Given the description of an element on the screen output the (x, y) to click on. 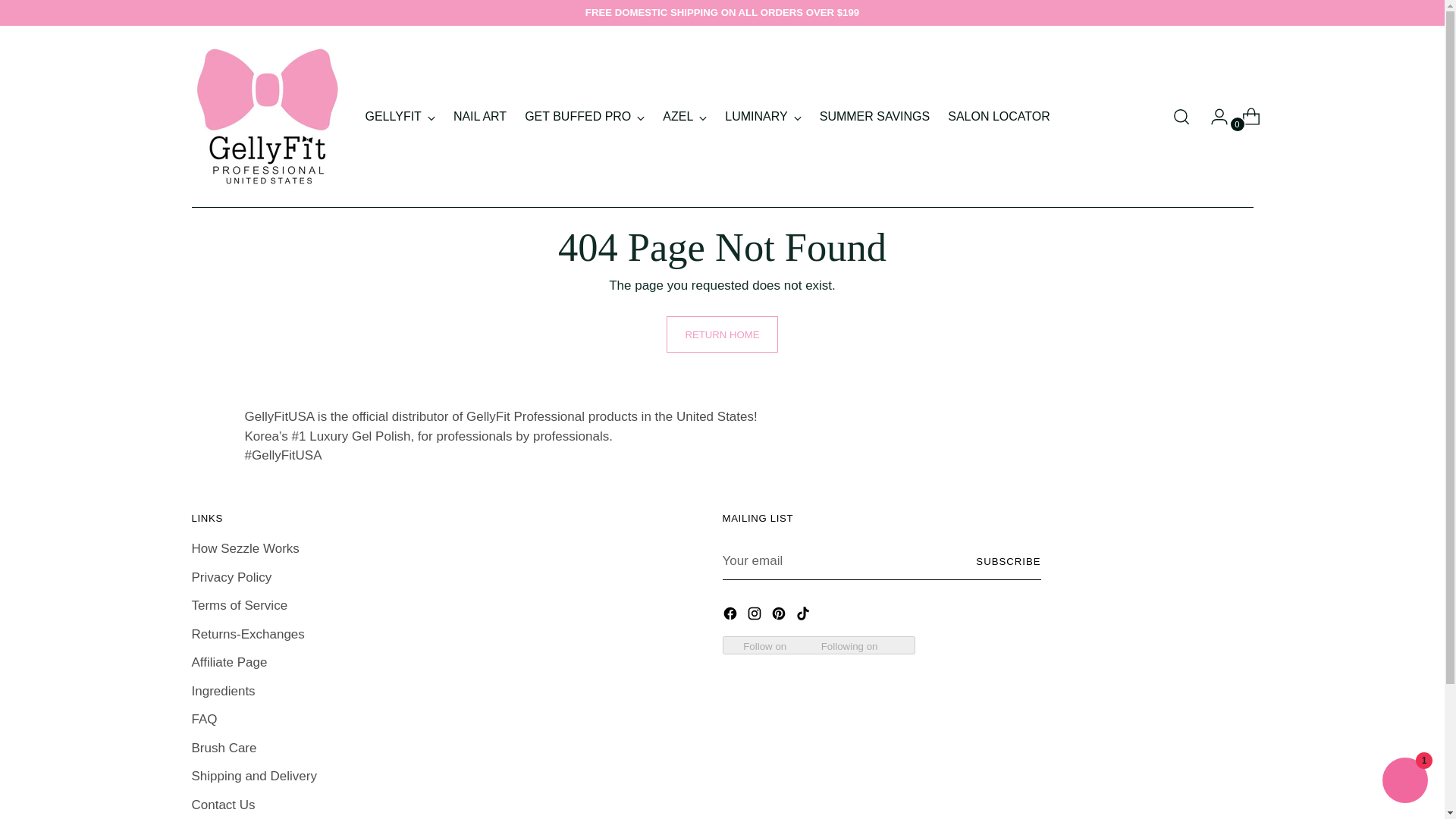
Shopify online store chat (1404, 781)
NAIL ART (479, 116)
GELLYFIT (400, 116)
GET BUFFED PRO (584, 116)
AZEL (684, 116)
LUMINARY (762, 116)
